Given the description of an element on the screen output the (x, y) to click on. 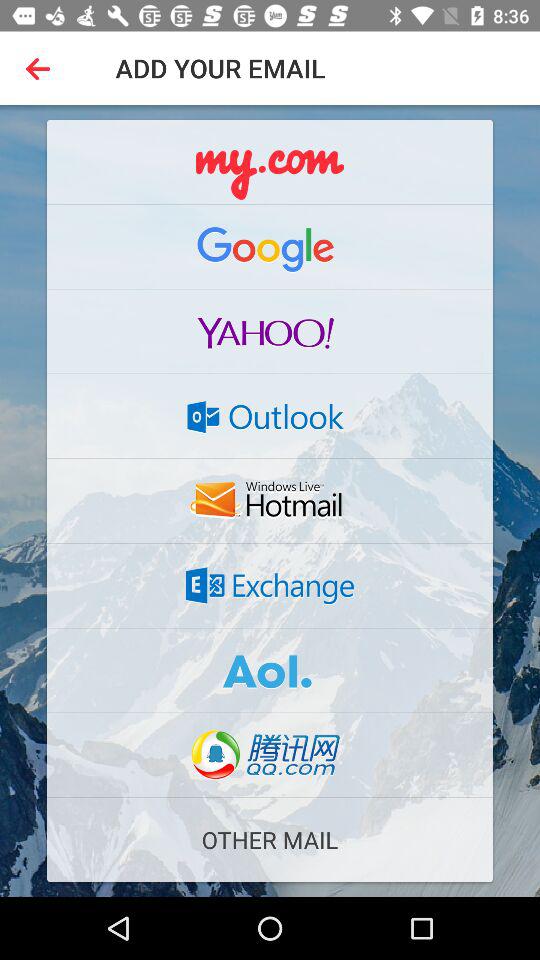
hotmail option (269, 501)
